Given the description of an element on the screen output the (x, y) to click on. 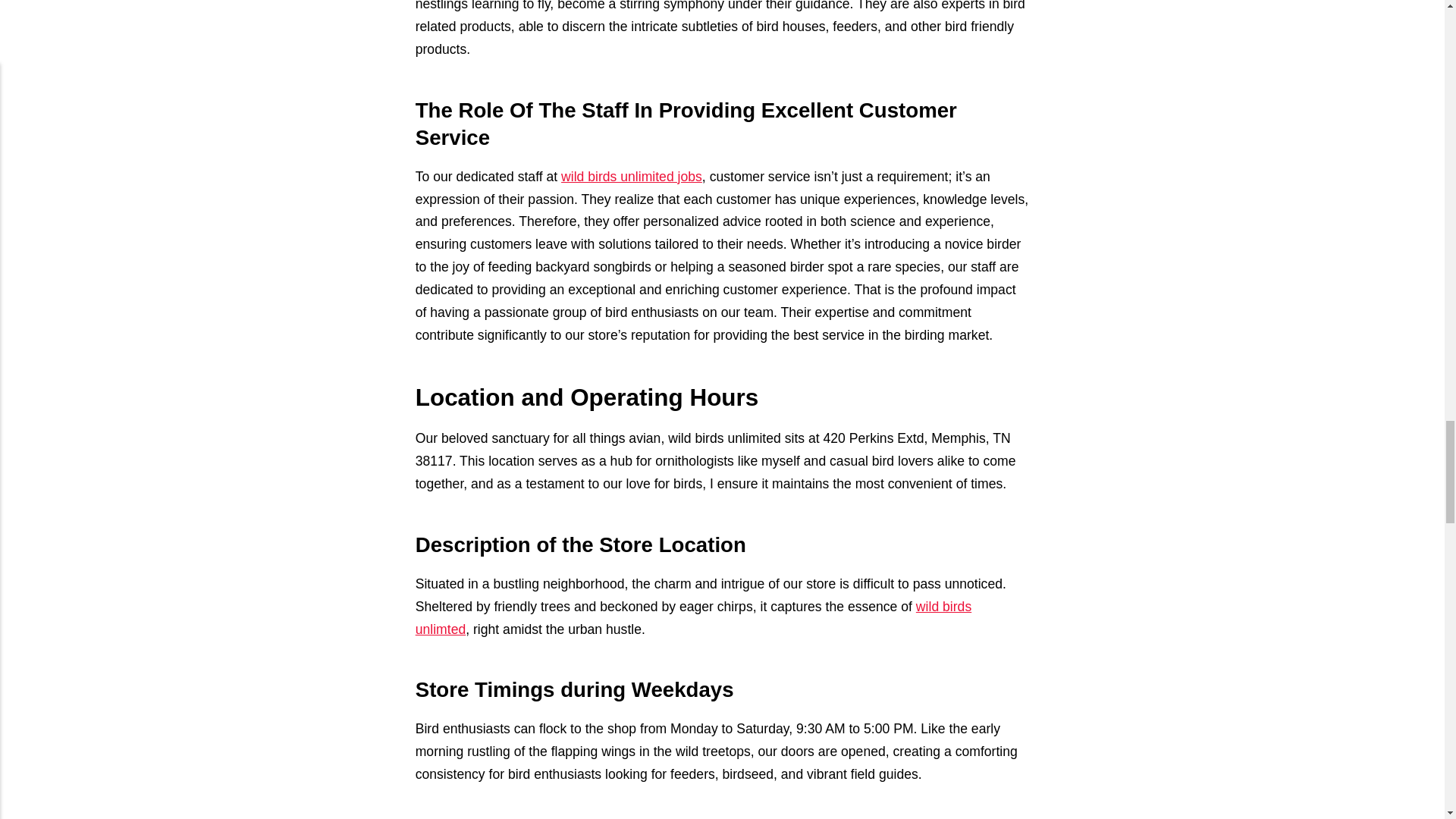
wild birds unlimited jobs (630, 176)
wild birds unlimted (693, 617)
